Given the description of an element on the screen output the (x, y) to click on. 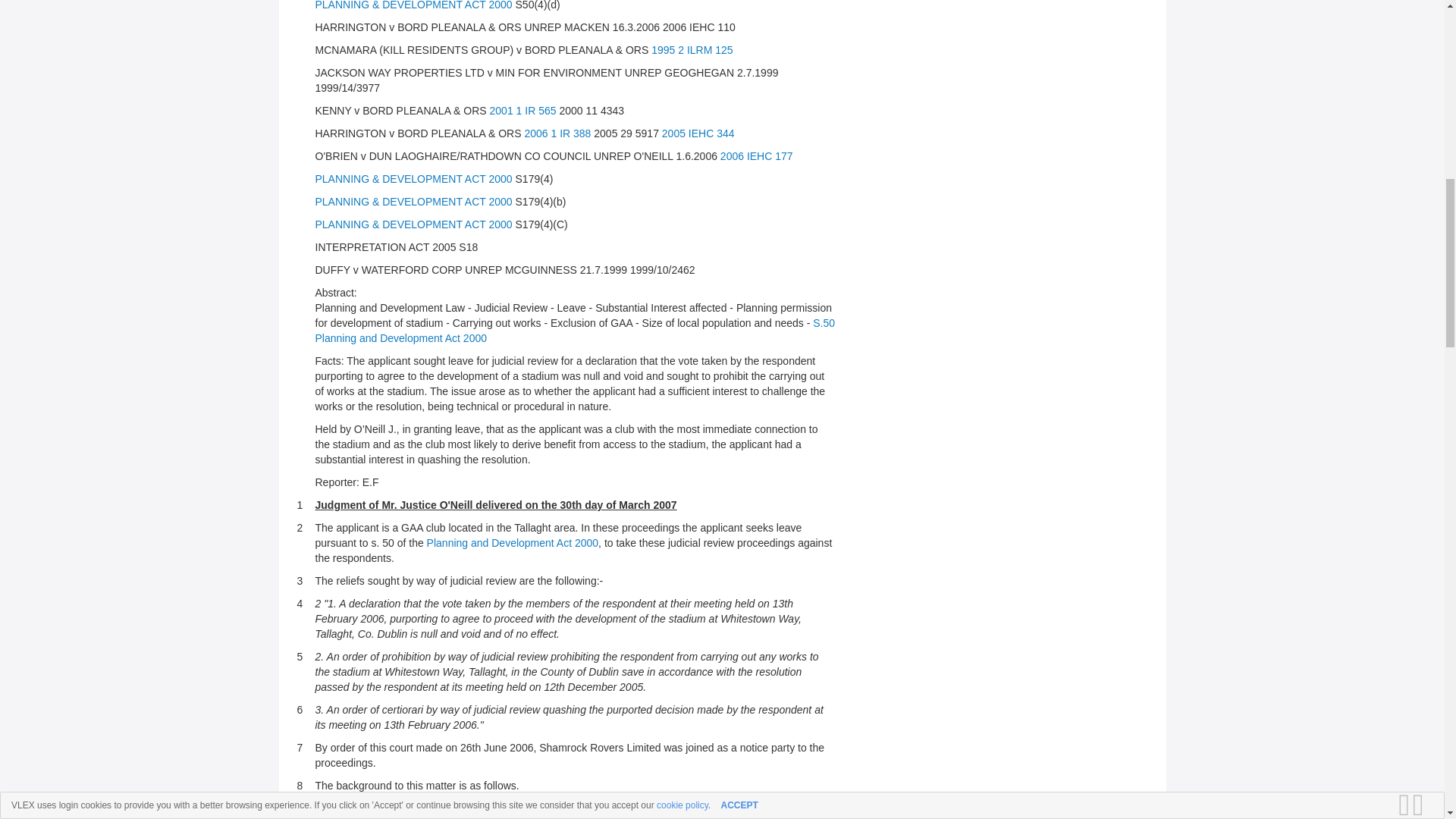
Planning and Development Act 2000 (401, 337)
2001 1 IR 565 (522, 110)
Planning and Development Act 2000 (512, 542)
2006 IEHC 177 (756, 155)
2006 1 IR 388 (557, 133)
1995 2 ILRM 125 (691, 50)
2005 IEHC 344 (698, 133)
